Given the description of an element on the screen output the (x, y) to click on. 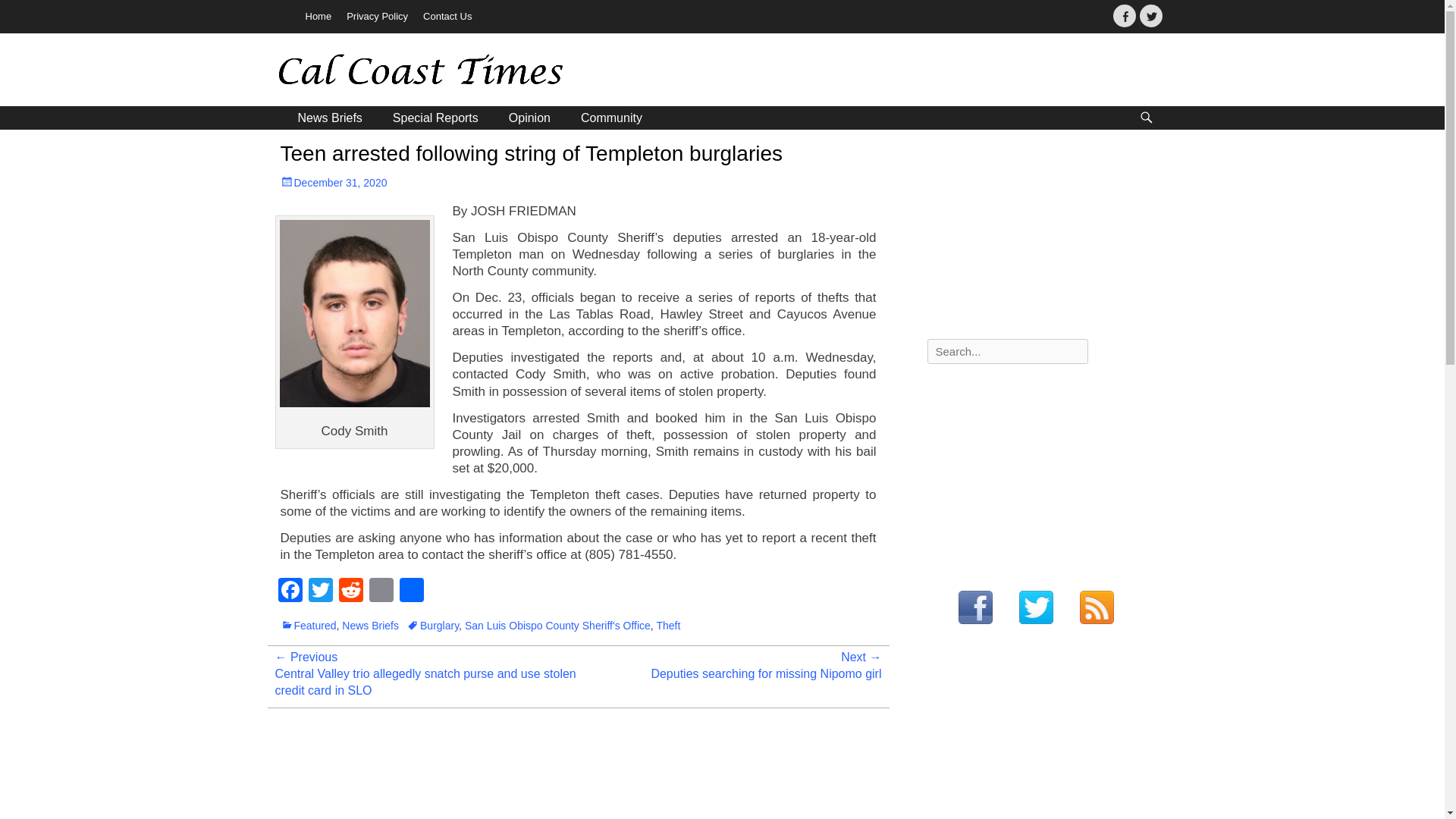
Burglary (432, 625)
Email (380, 592)
Featured (308, 625)
Search (24, 9)
3rd party ad content (1040, 470)
Twitter (319, 592)
News Briefs (329, 117)
Cal Coast Times RSS Feed (1096, 608)
Reddit (349, 592)
Opinion (529, 117)
Reddit (349, 592)
Twitter (1149, 15)
Facebook (289, 592)
Twitter (319, 592)
Twitter (1149, 15)
